Given the description of an element on the screen output the (x, y) to click on. 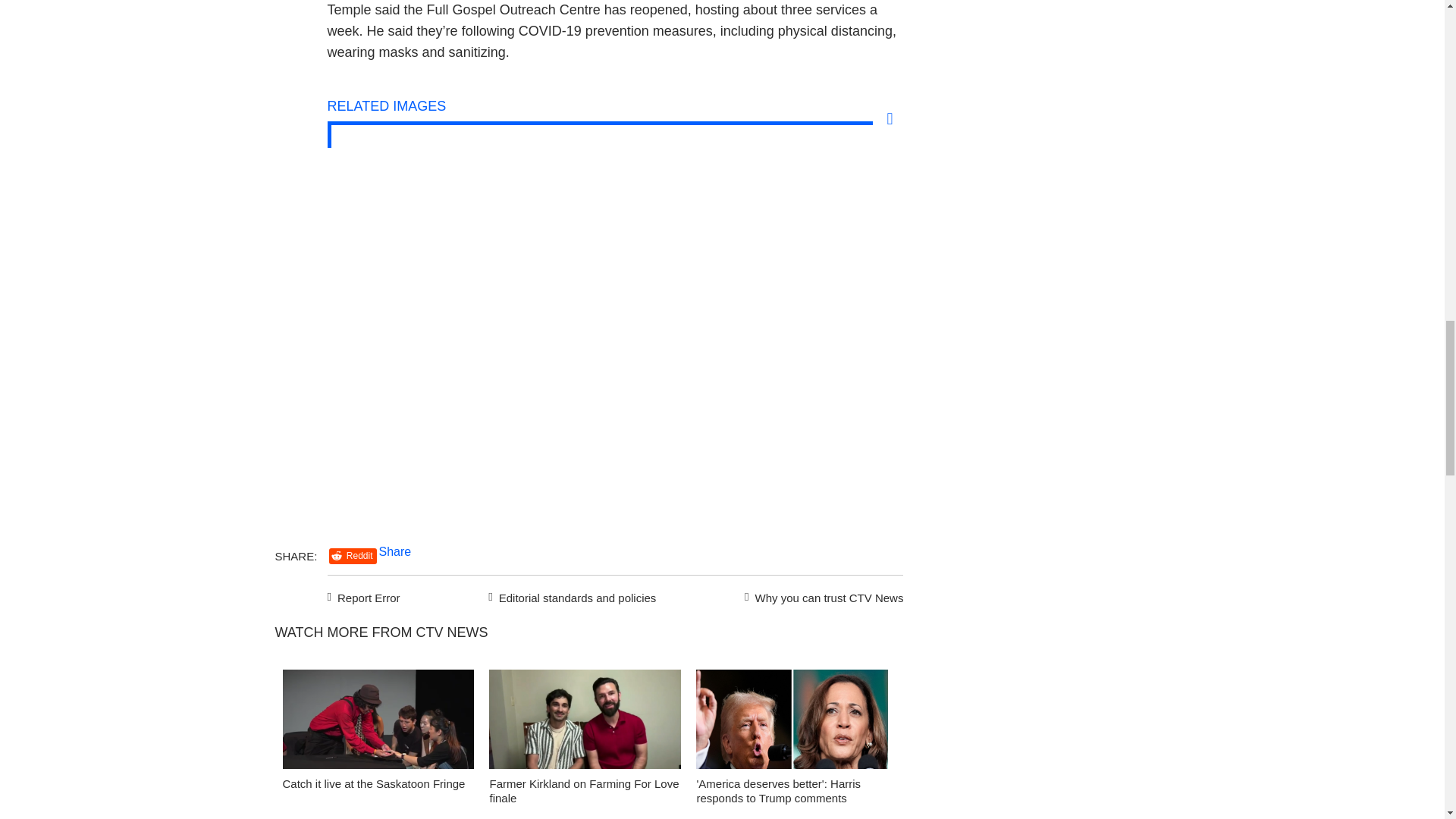
Farming for Love  (585, 722)
Report Error (363, 595)
Catch it live at the Saskatoon Fringe (373, 783)
Editorial standards and policies (569, 595)
false (378, 719)
'America deserves better': Harris responds to Trump comments (777, 790)
Reddit (353, 555)
Share (395, 551)
false (585, 719)
Farmer Kirkland on Farming For Love finale (583, 790)
Donald Trump and Kamala Harris  (791, 723)
Why you can trust CTV News (820, 595)
Saskatoon Fringe 2024 (378, 723)
false (791, 719)
